Given the description of an element on the screen output the (x, y) to click on. 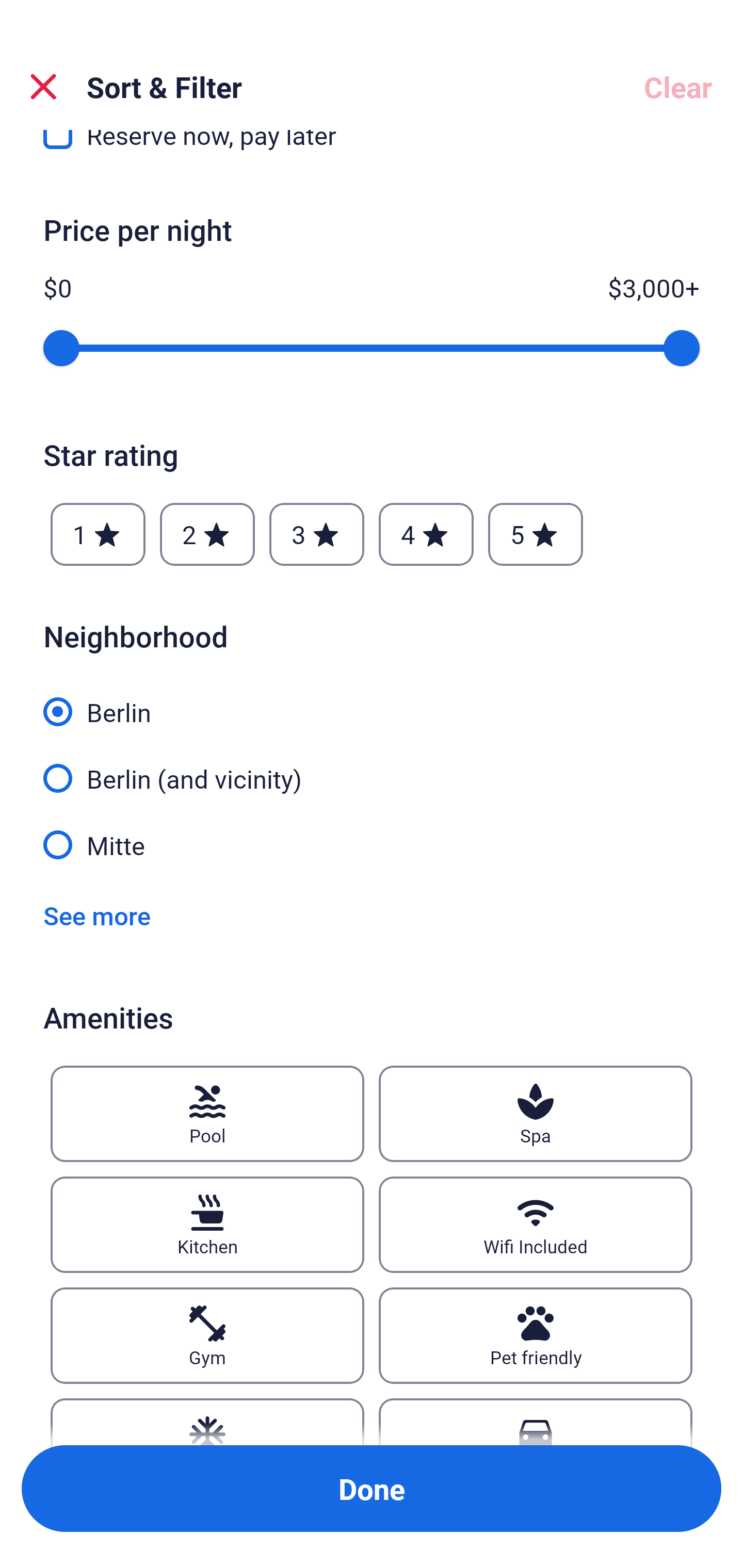
Close Sort and Filter (43, 86)
Clear (677, 86)
1 (97, 533)
2 (206, 533)
3 (316, 533)
4 (426, 533)
5 (535, 533)
Berlin (and vicinity) (371, 767)
Mitte (371, 844)
See more See more neighborhoods Link (96, 915)
Pool (207, 1113)
Spa (535, 1113)
Kitchen (207, 1224)
Wifi Included (535, 1224)
Gym (207, 1335)
Pet friendly (535, 1335)
Apply and close Sort and Filter Done (371, 1488)
